Given the description of an element on the screen output the (x, y) to click on. 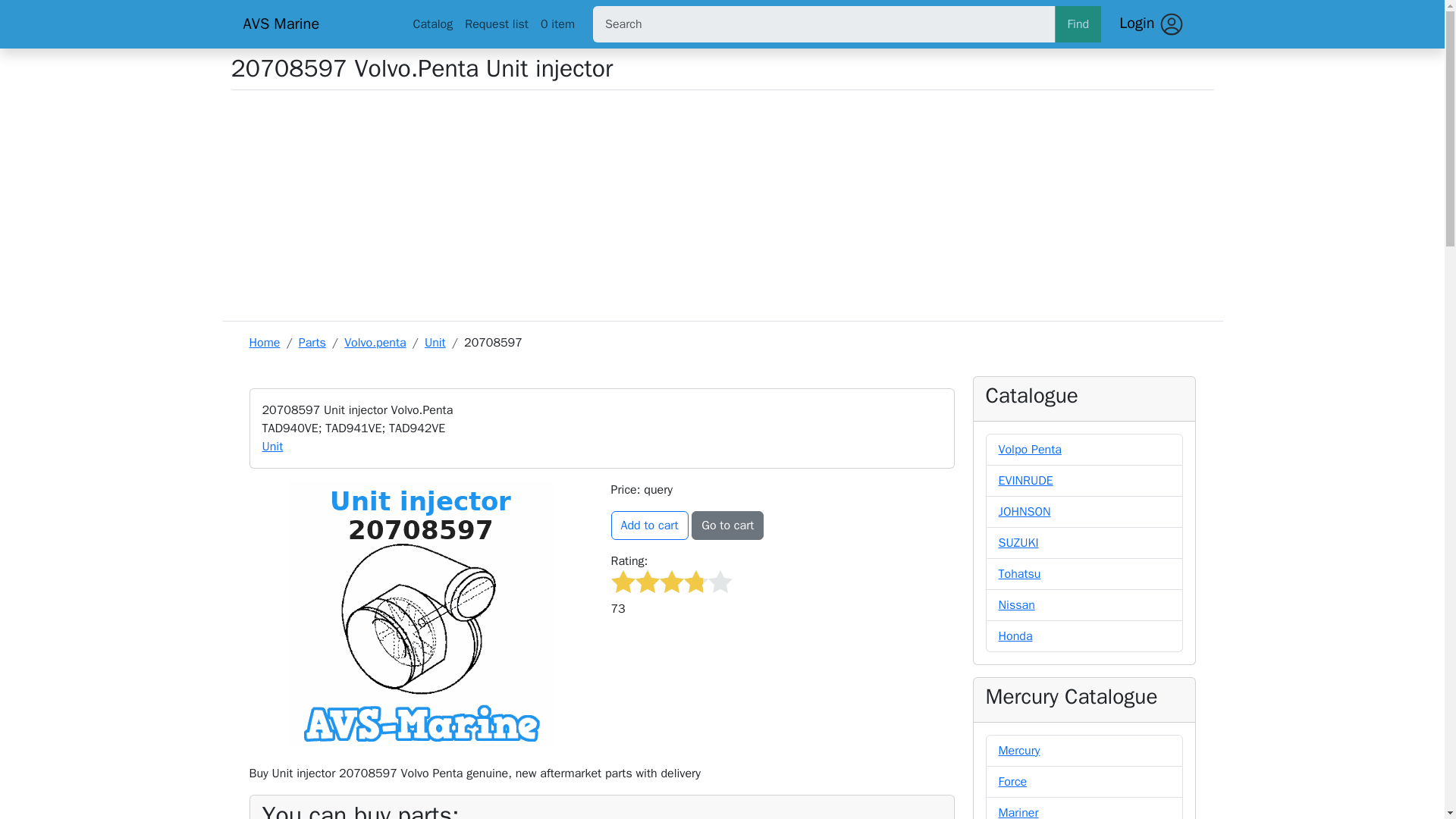
Nissan (1015, 604)
Tohatsu (1019, 573)
Unit (272, 446)
SUZUKI (1017, 542)
Buy 20708597 Unit injector Volvo Penta parts (420, 613)
Volpo Penta (1029, 449)
Find (1077, 23)
Catalog (432, 24)
AVS Marine (312, 24)
Honda (1014, 635)
Buy spare part 20708597 for Volvo Penta (649, 525)
Add to cart (649, 525)
EVINRUDE (1024, 480)
Parts (312, 342)
Request list (496, 24)
